Given the description of an element on the screen output the (x, y) to click on. 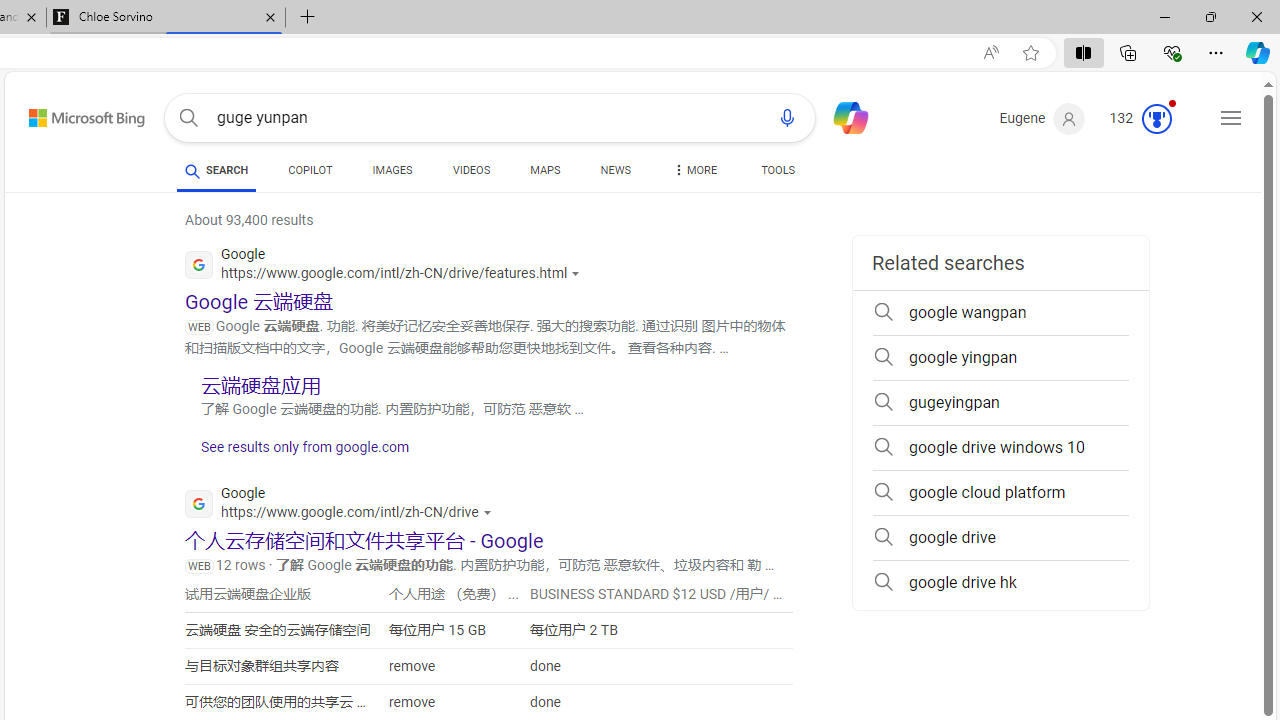
google cloud platform (1000, 492)
NEWS (614, 170)
COPILOT (310, 173)
Actions for this site (489, 512)
Class: medal-svg-animation (1156, 118)
google wangpan (1000, 312)
See results only from google.com (297, 452)
MAPS (545, 170)
Search (188, 117)
